Given the description of an element on the screen output the (x, y) to click on. 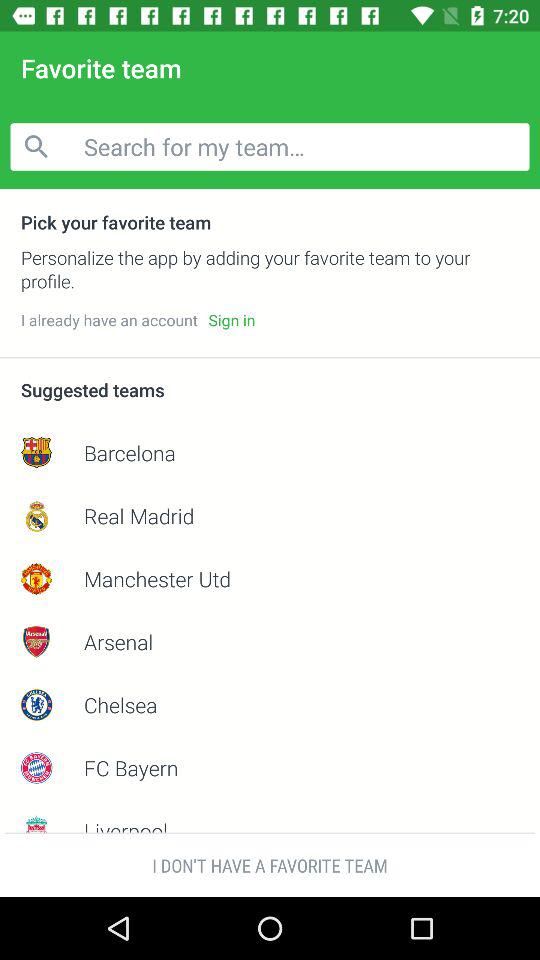
launch i don t (270, 864)
